Given the description of an element on the screen output the (x, y) to click on. 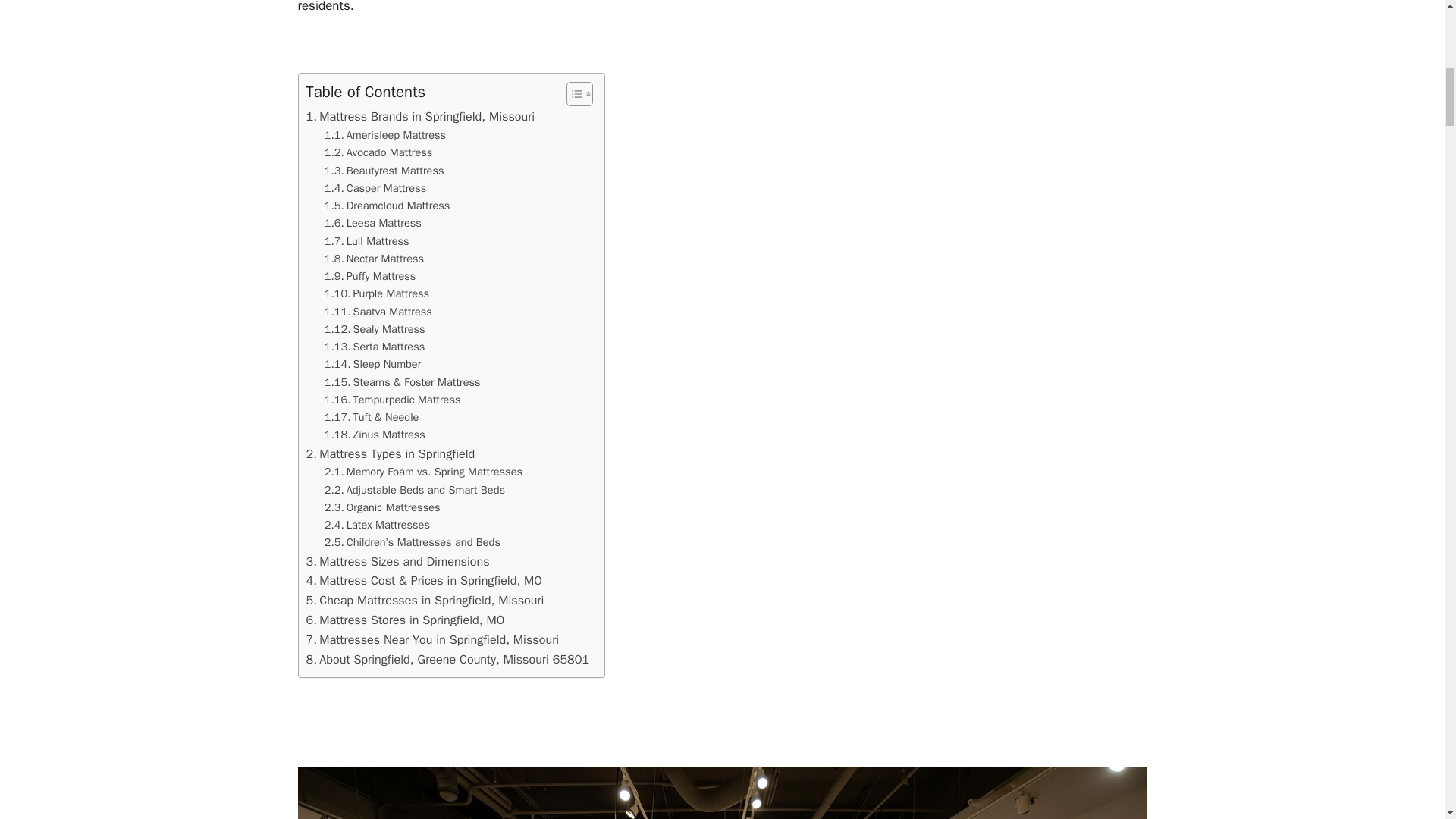
Leesa Mattress (373, 222)
Amerisleep Mattress (384, 135)
Lull Mattress (366, 241)
Avocado Mattress (378, 152)
Beautyrest Mattress (384, 170)
Mattress Brands in Springfield, Missouri (420, 116)
Saatva Mattress (378, 312)
Nectar Mattress (373, 258)
Casper Mattress (375, 188)
Puffy Mattress (370, 276)
